Given the description of an element on the screen output the (x, y) to click on. 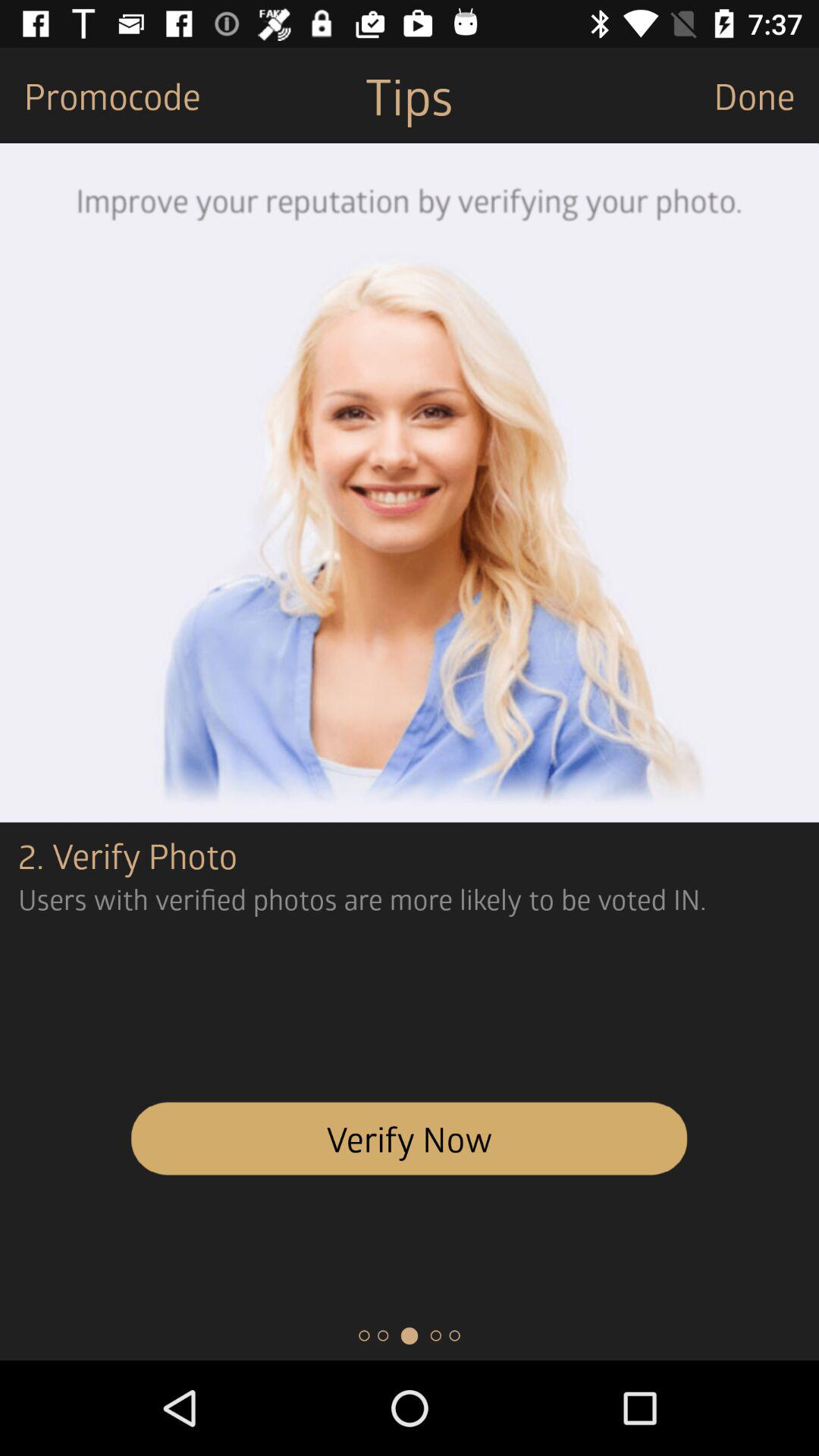
jump until verify now icon (409, 1138)
